Given the description of an element on the screen output the (x, y) to click on. 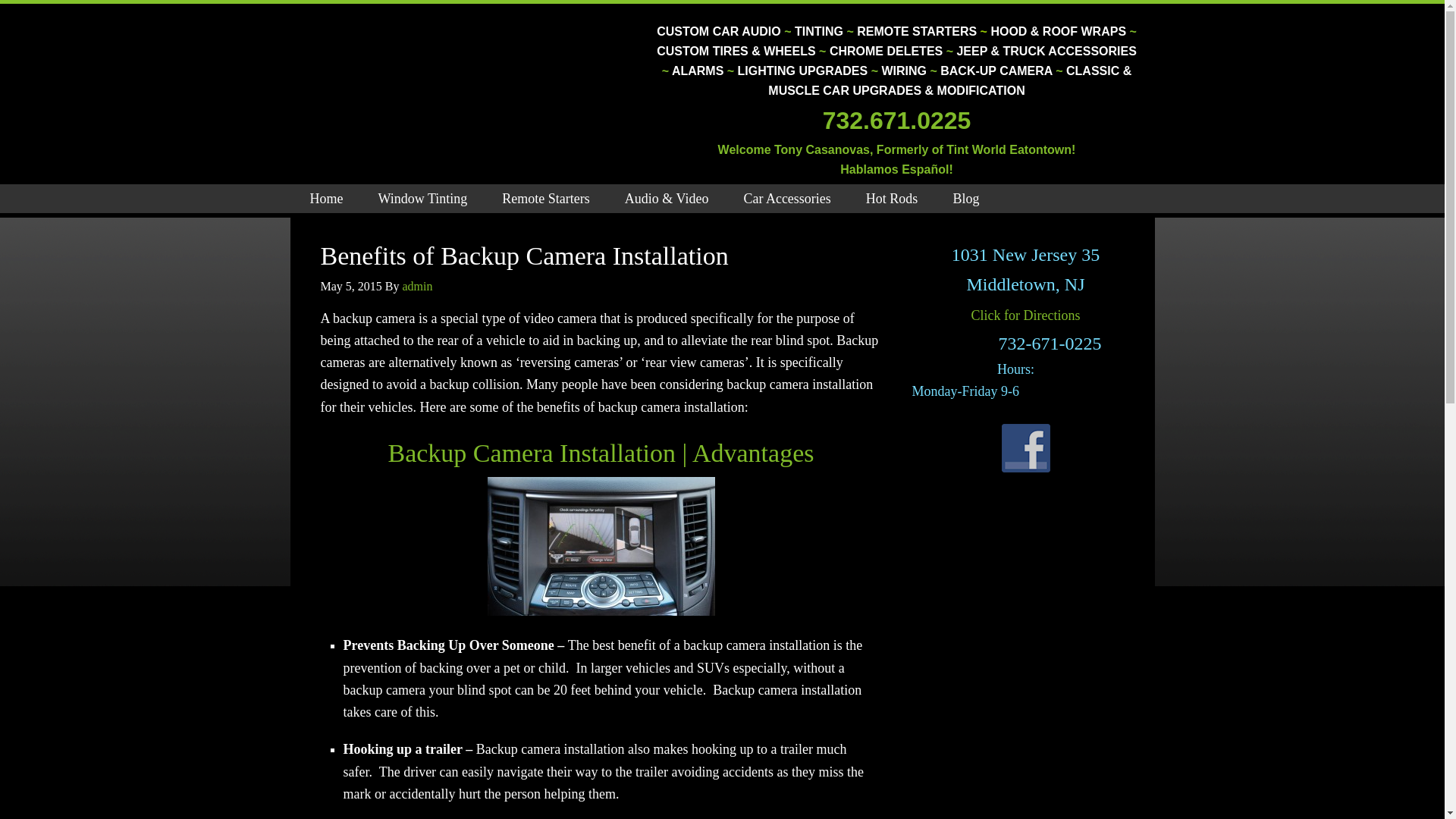
Car Accessories (785, 198)
Remote Starters (545, 198)
Follow Us on Facebook (1025, 447)
Window Tinting (422, 198)
admin (416, 285)
Blog (965, 198)
Home (325, 198)
Hot Rods (892, 198)
Benefits of Backup Camera Installation (524, 255)
